Given the description of an element on the screen output the (x, y) to click on. 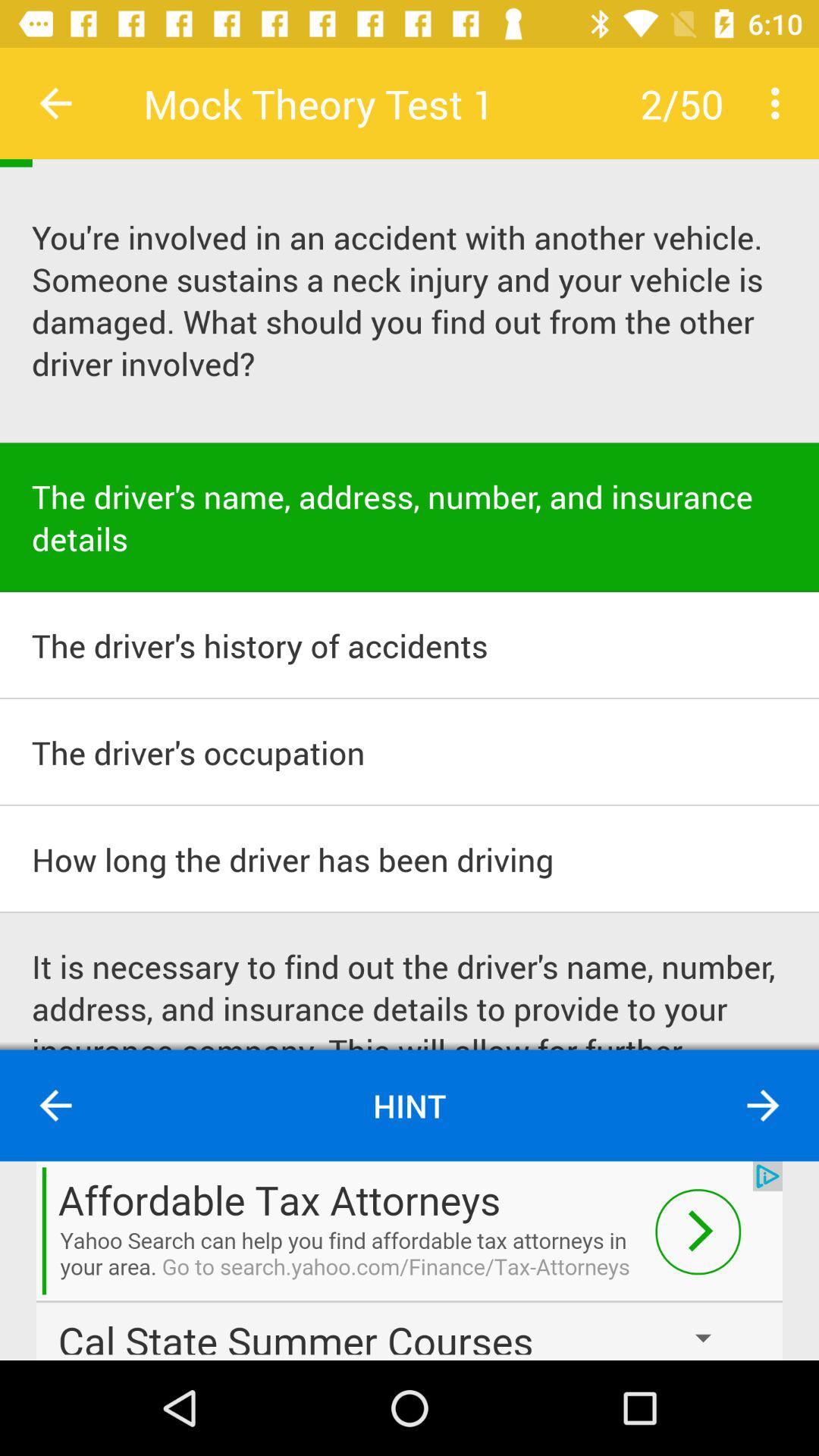
click to next hint (763, 1105)
